Given the description of an element on the screen output the (x, y) to click on. 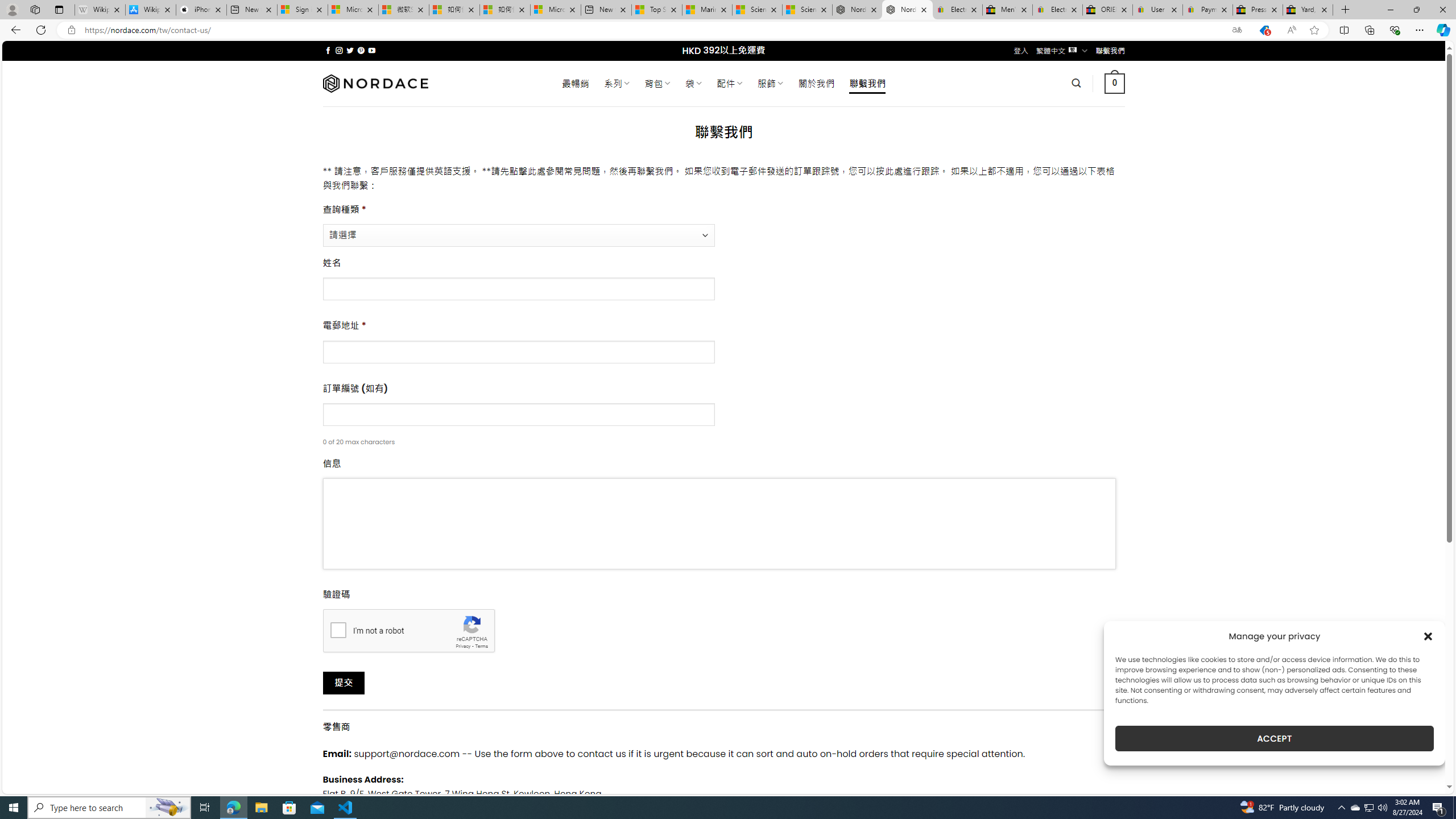
  0   (1115, 83)
I'm not a robot (338, 629)
Follow on Instagram (338, 50)
